Given the description of an element on the screen output the (x, y) to click on. 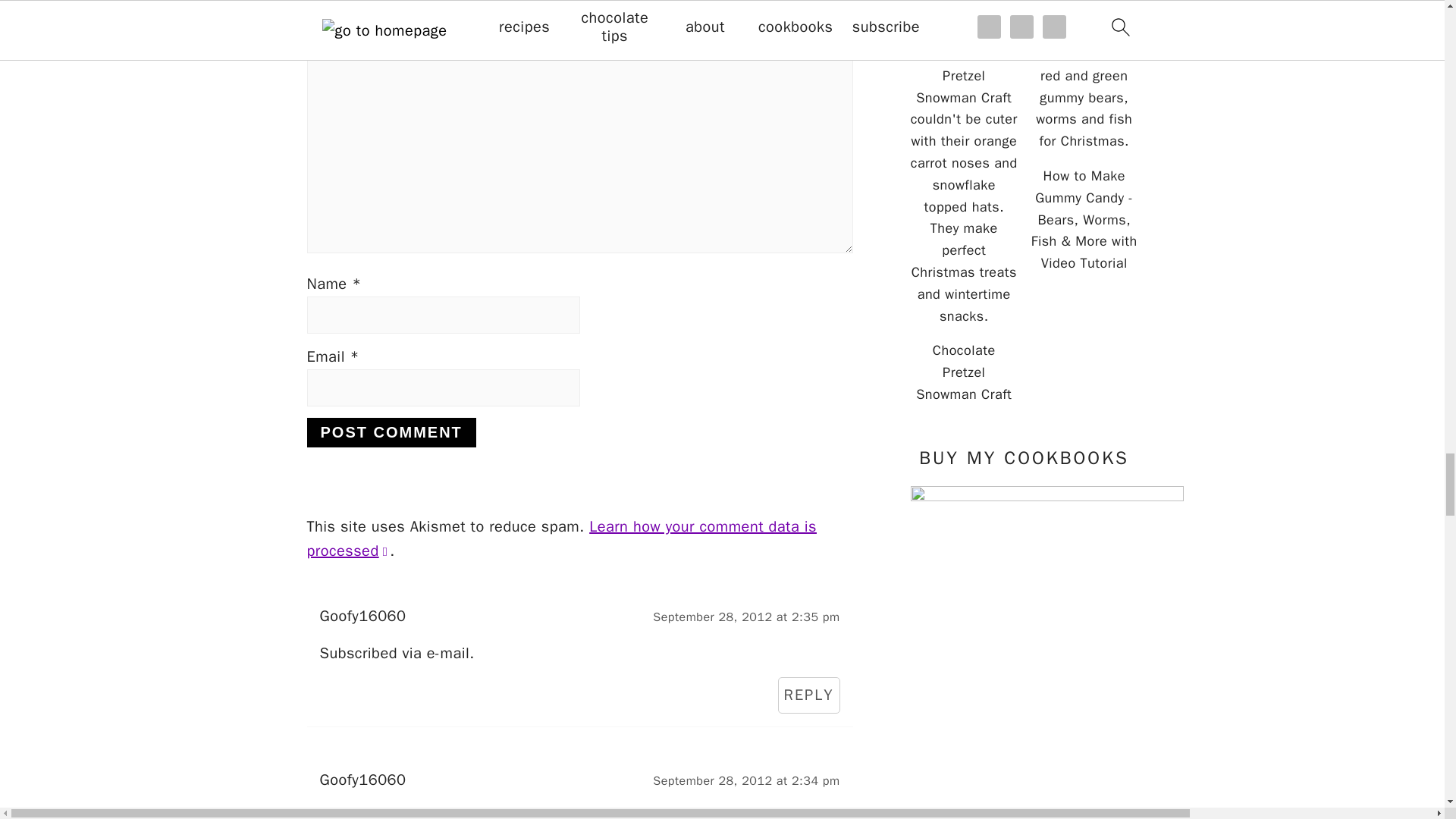
Post Comment (390, 432)
